Given the description of an element on the screen output the (x, y) to click on. 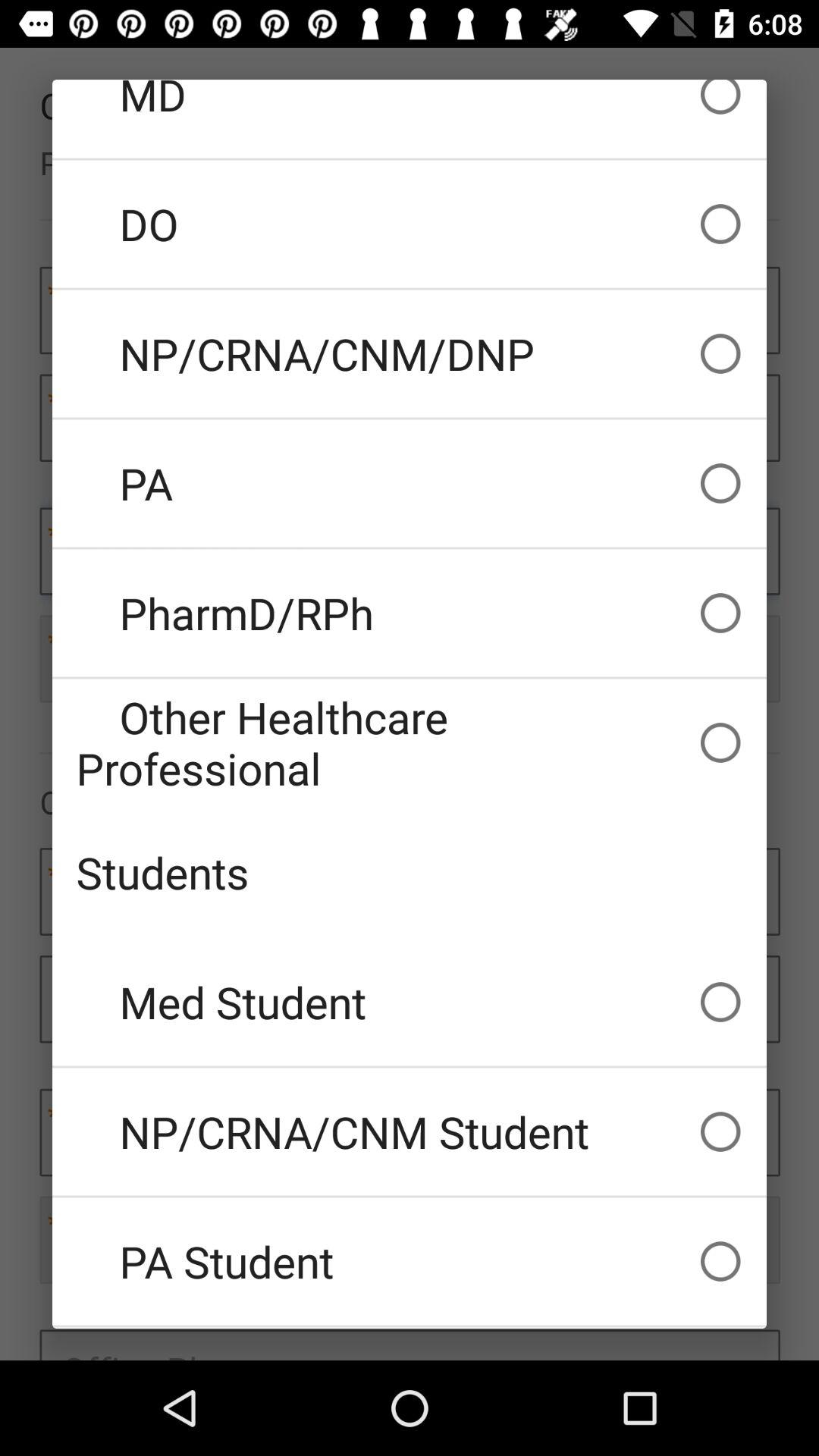
tap the students icon (409, 872)
